Given the description of an element on the screen output the (x, y) to click on. 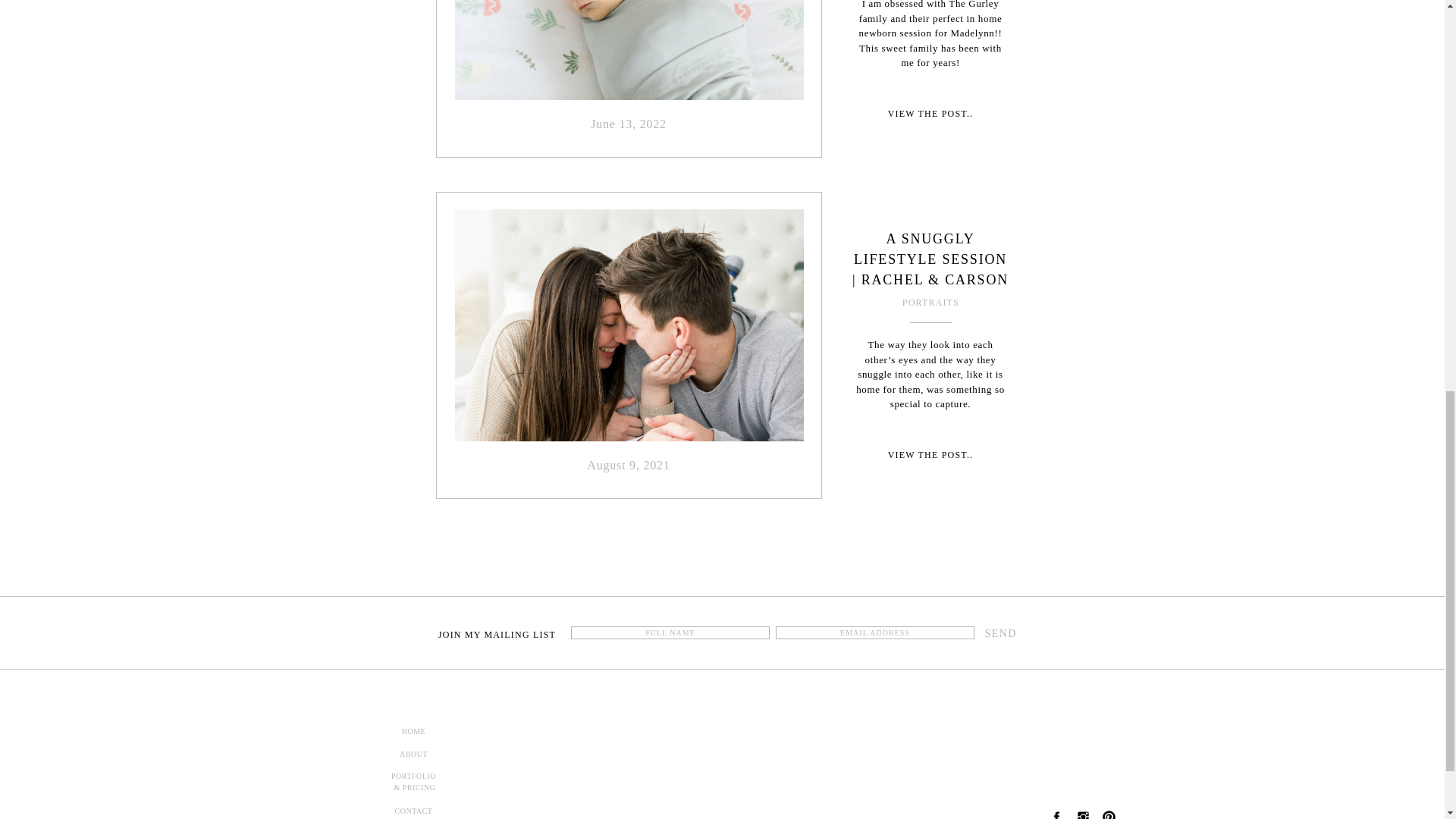
PORTRAITS (930, 302)
VIEW THE POST.. (929, 113)
ABOUT (413, 756)
CONTACT (413, 812)
VIEW THE POST.. (929, 454)
HOME (413, 733)
SEND (1000, 633)
